Given the description of an element on the screen output the (x, y) to click on. 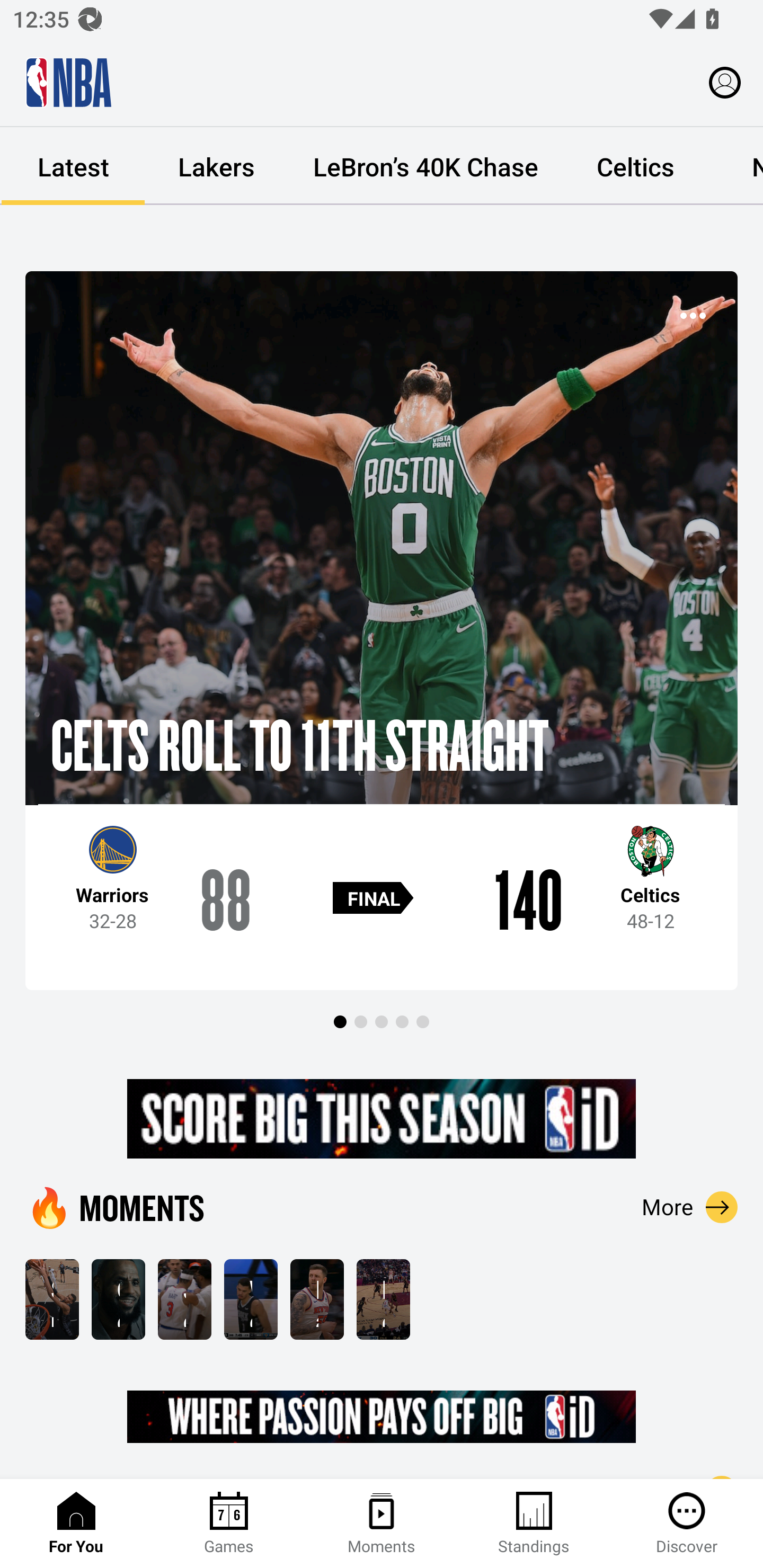
Profile (724, 81)
Lakers (215, 166)
LeBron’s 40K Chase (425, 166)
Celtics (634, 166)
More (689, 1207)
Sunday's Top Plays In 30 Seconds ⏱ (51, 1299)
Hartenstein Drops The Hammer 🔨 (317, 1299)
Games (228, 1523)
Moments (381, 1523)
Standings (533, 1523)
Discover (686, 1523)
